Given the description of an element on the screen output the (x, y) to click on. 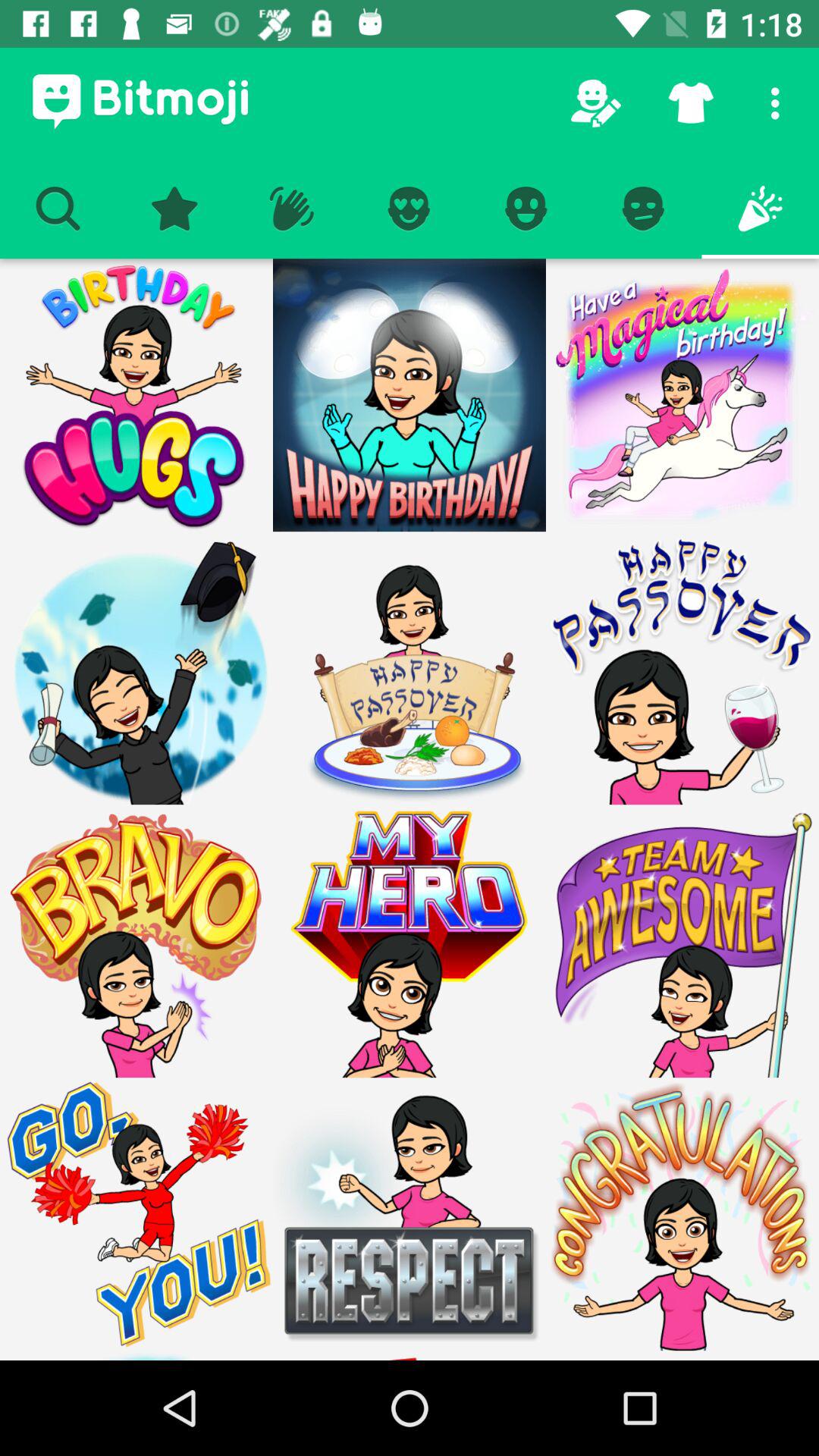
add cheerleader emoji (136, 1213)
